Given the description of an element on the screen output the (x, y) to click on. 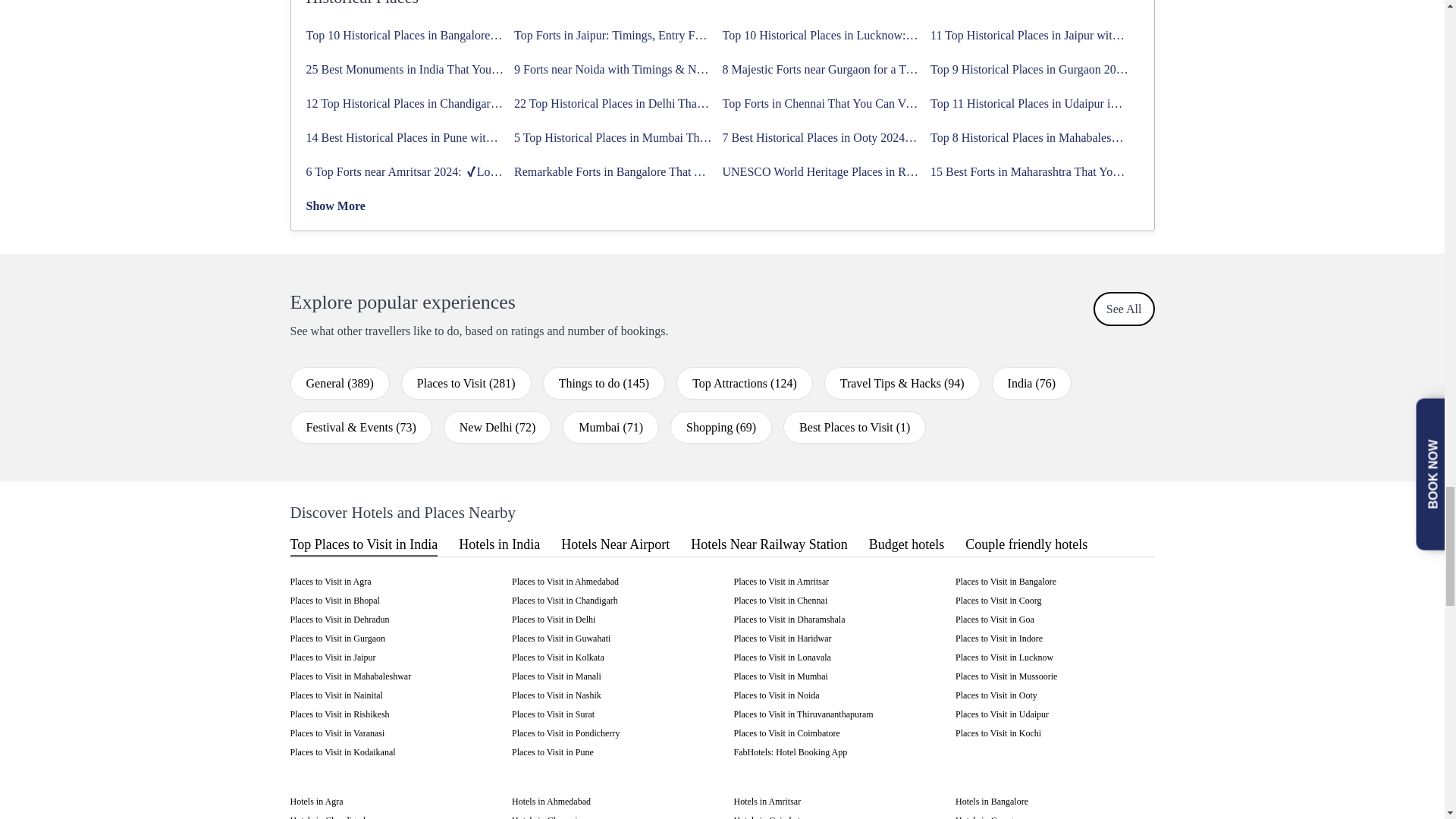
Best Places to Visit in Jaipur (332, 656)
Best Places to Visit in Gurgaon (337, 638)
Best Places to Visit in Coorg (998, 600)
Best Places to Visit in Dharamshala (789, 619)
Best Places to Visit in Amritsar (781, 581)
Best Places to Visit in Dehradun (338, 619)
Best Places to Visit in Kolkata (558, 656)
Best Places to Visit in Goa (994, 619)
Best Places to Visit in Delhi (553, 619)
Best Places to Visit in Agra (330, 581)
Best Places to Visit in Ahmedabad (565, 581)
Best Places to Visit in Indore (998, 638)
Best Places to Visit in Bangalore (1006, 581)
Best Places to Visit in Guwahati (561, 638)
Best Places to Visit in Chandigarh (564, 600)
